Given the description of an element on the screen output the (x, y) to click on. 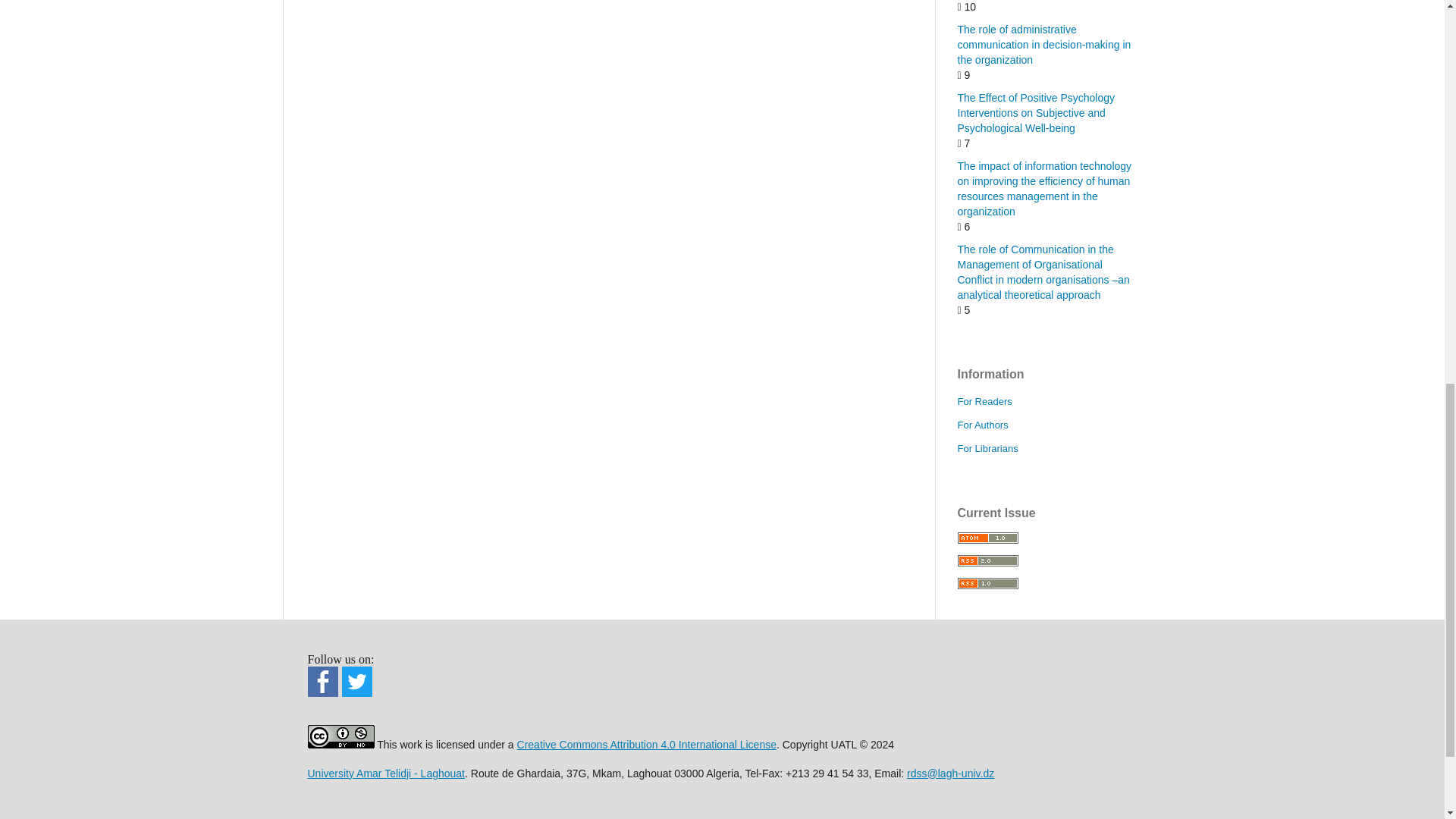
Social Sciences Journal Facebook page (322, 692)
Social Sciences Journal X account (357, 691)
